Given the description of an element on the screen output the (x, y) to click on. 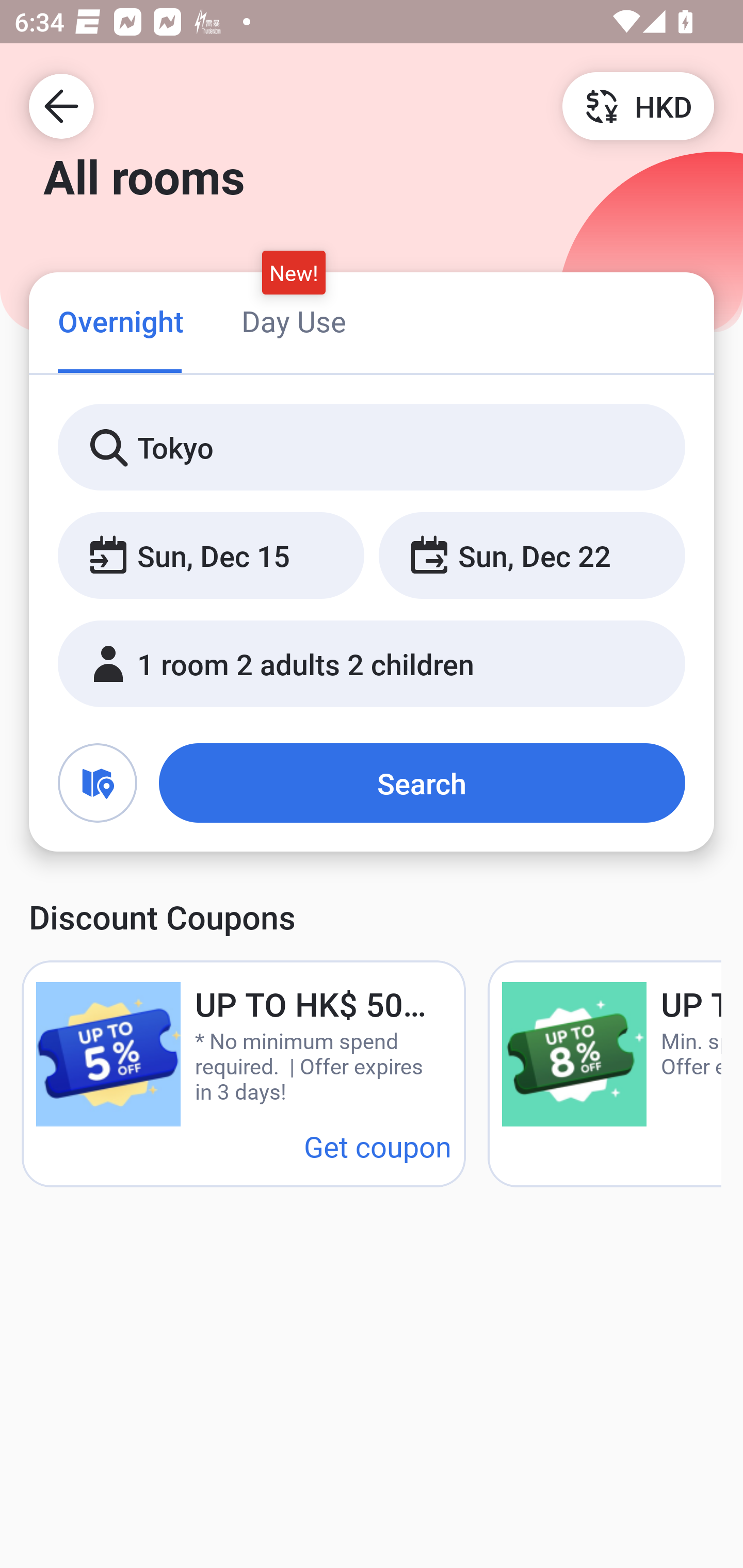
HKD (638, 105)
New! (294, 272)
Day Use (293, 321)
Tokyo (371, 447)
Sun, Dec 15 (210, 555)
Sun, Dec 22 (531, 555)
1 room 2 adults 2 children (371, 663)
Search (422, 783)
Get coupon (377, 1146)
